Given the description of an element on the screen output the (x, y) to click on. 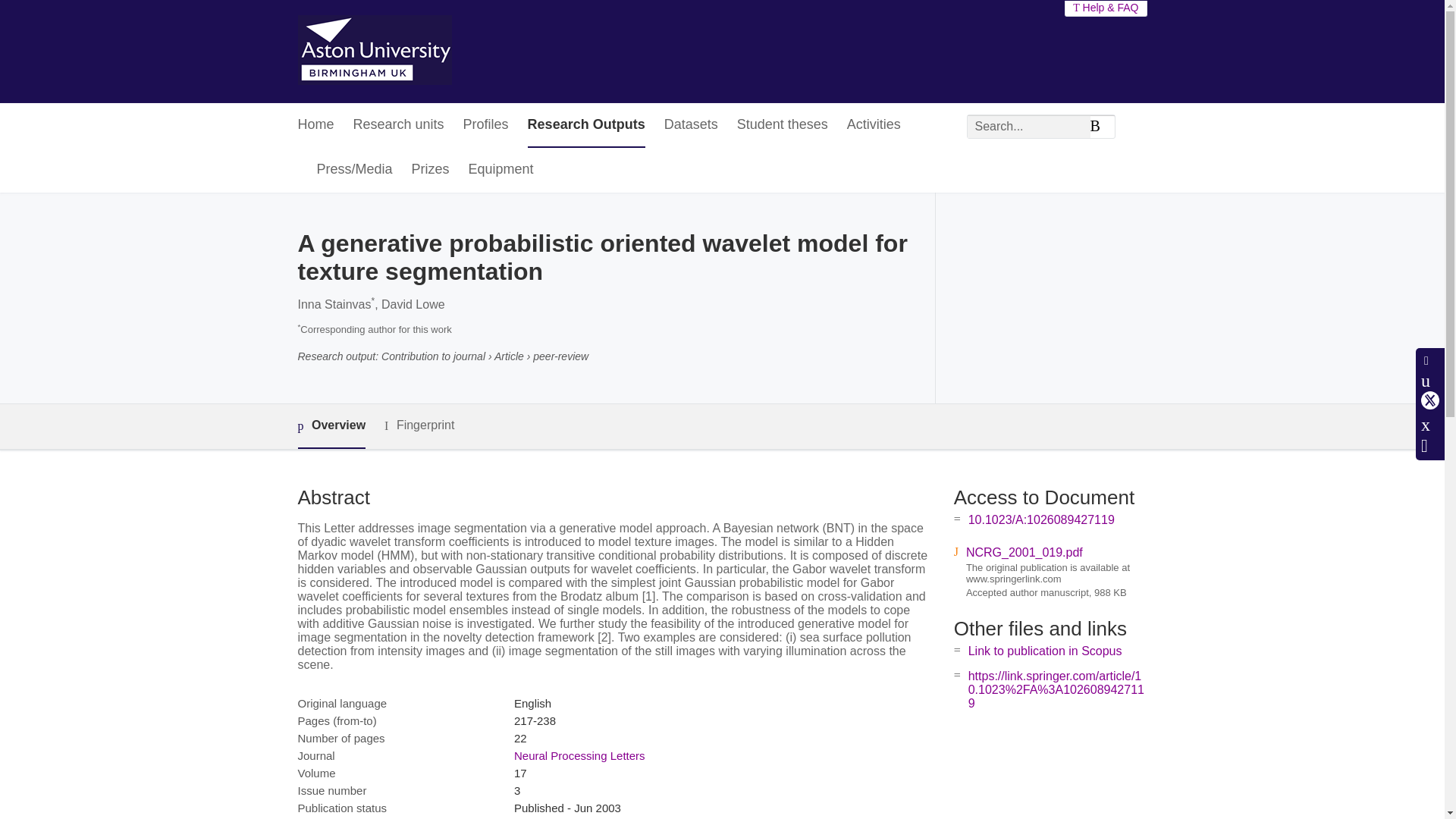
Research Outputs (586, 125)
Student theses (782, 125)
Research units (398, 125)
Neural Processing Letters (579, 755)
Datasets (690, 125)
Overview (331, 426)
Activities (874, 125)
Aston Research Explorer Home (374, 51)
Equipment (501, 170)
Profiles (485, 125)
Link to publication in Scopus (1045, 650)
Fingerprint (419, 425)
